Given the description of an element on the screen output the (x, y) to click on. 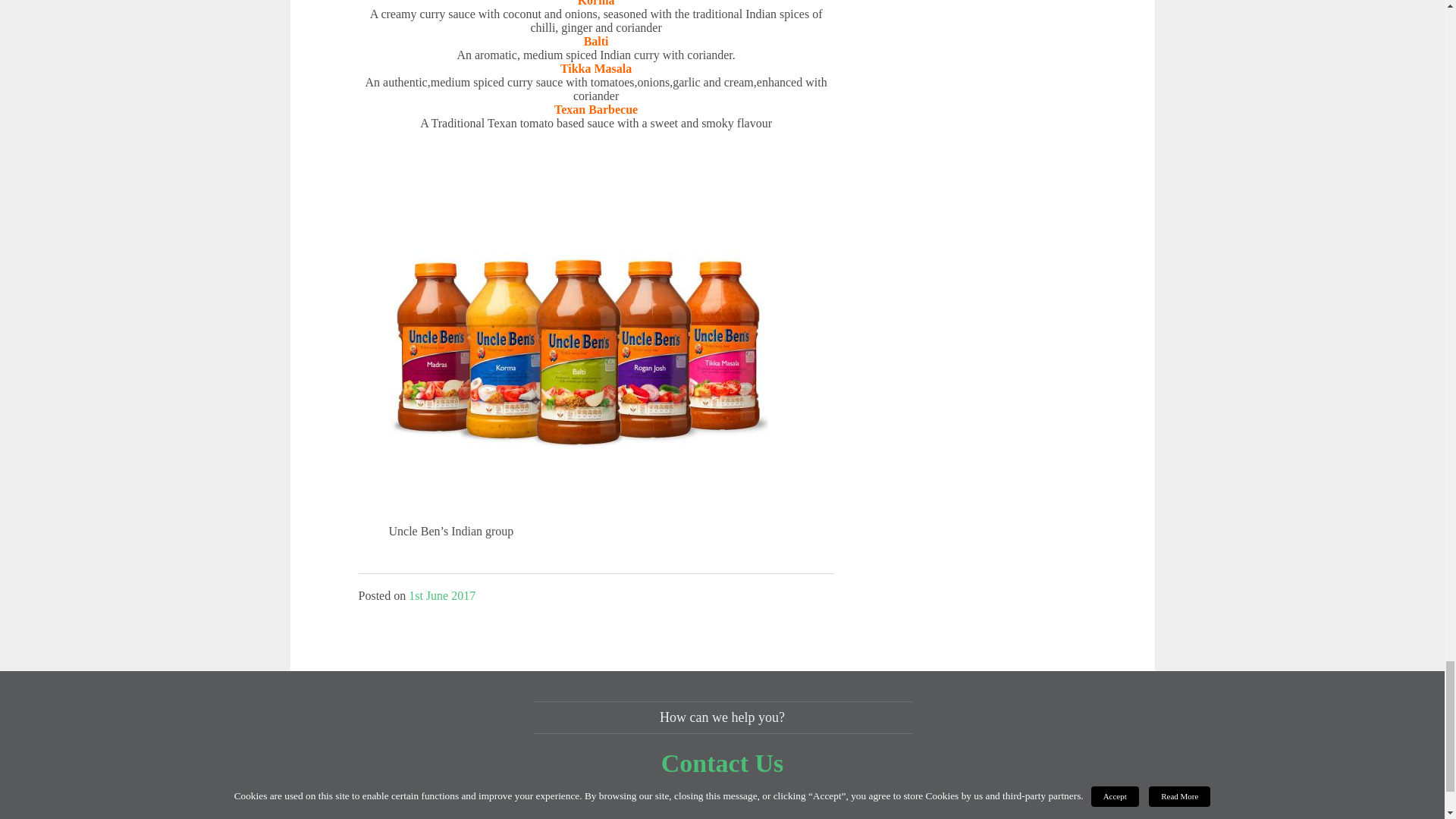
1st June 2017 (442, 594)
